Given the description of an element on the screen output the (x, y) to click on. 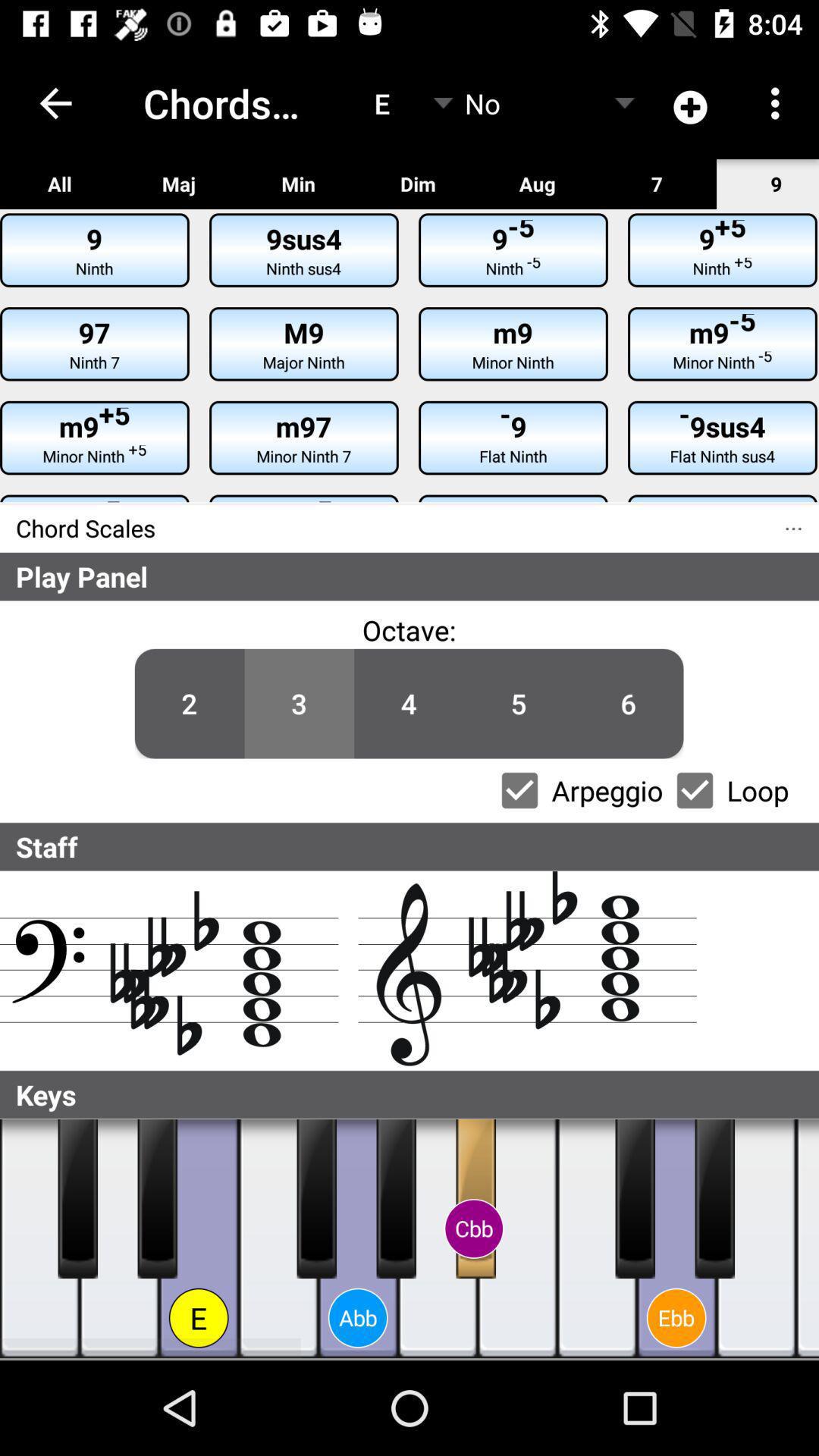
select piano key (157, 1198)
